Given the description of an element on the screen output the (x, y) to click on. 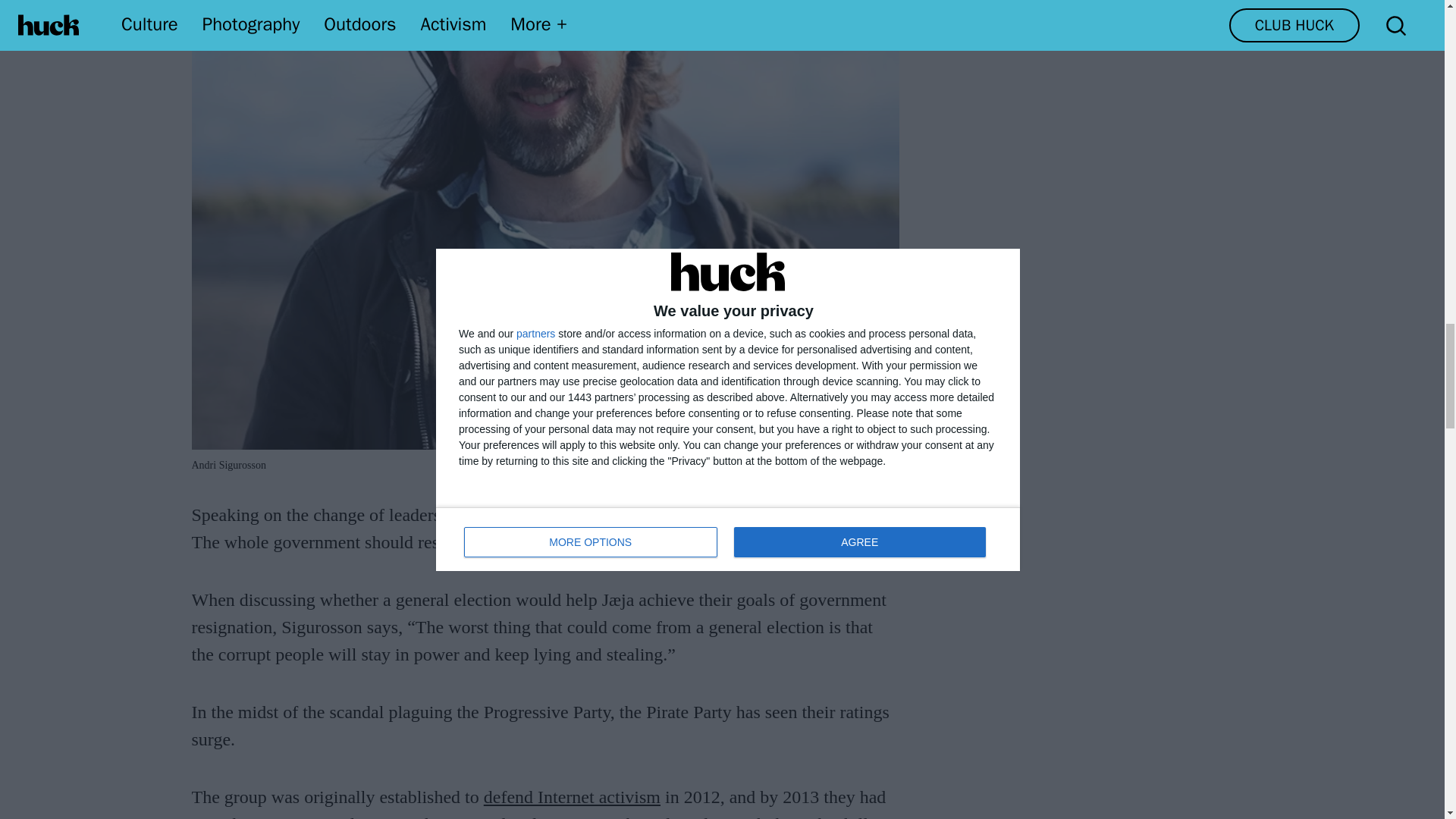
defend Internet activism (572, 796)
